Given the description of an element on the screen output the (x, y) to click on. 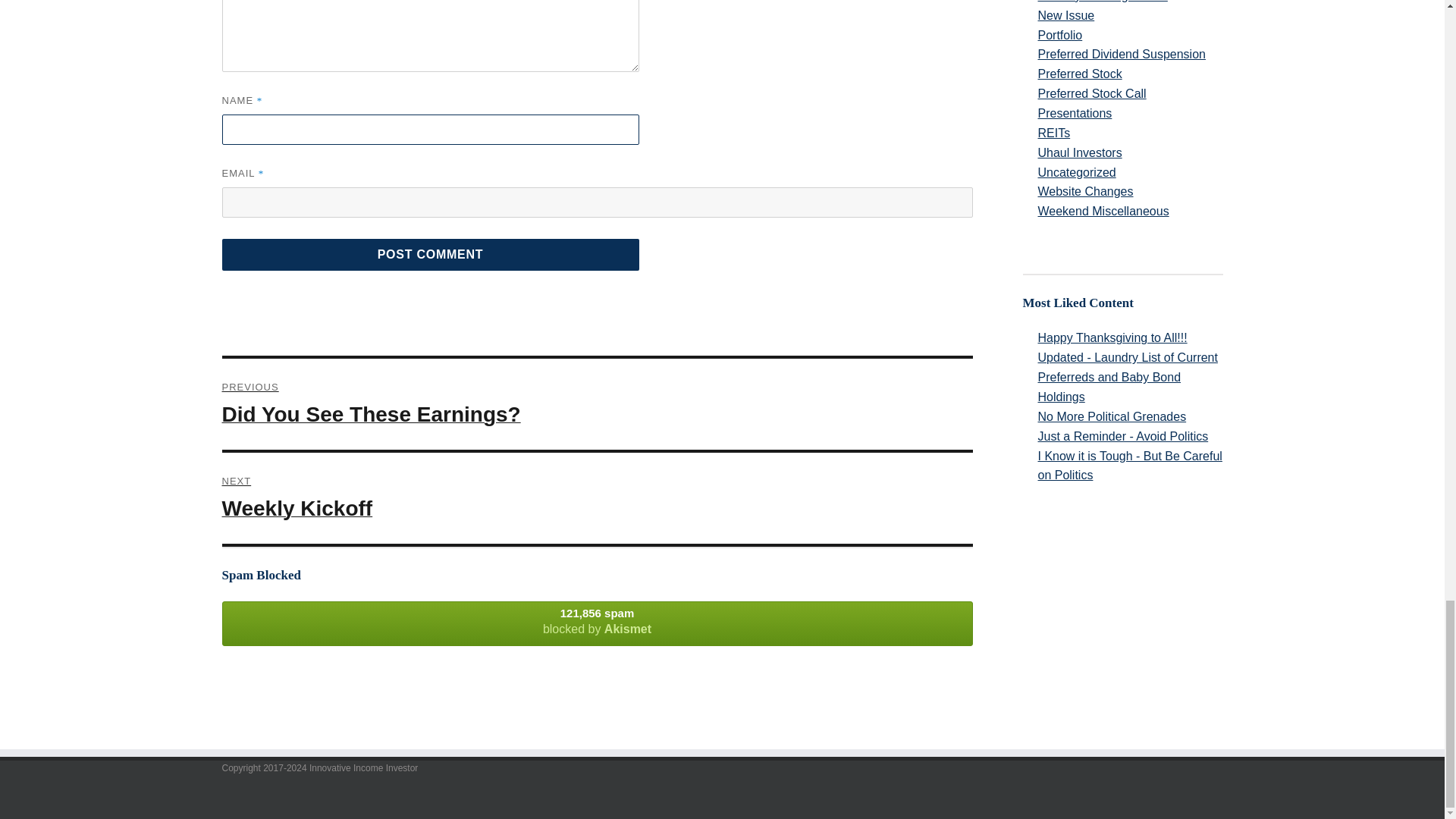
Post Comment (430, 255)
I Know it is Tough - But Be Careful on Politics (1129, 466)
Happy Thanksgiving to All!!! (1129, 338)
No More Political Grenades (1129, 416)
Just a Reminder - Avoid Politics (1129, 436)
